Given the description of an element on the screen output the (x, y) to click on. 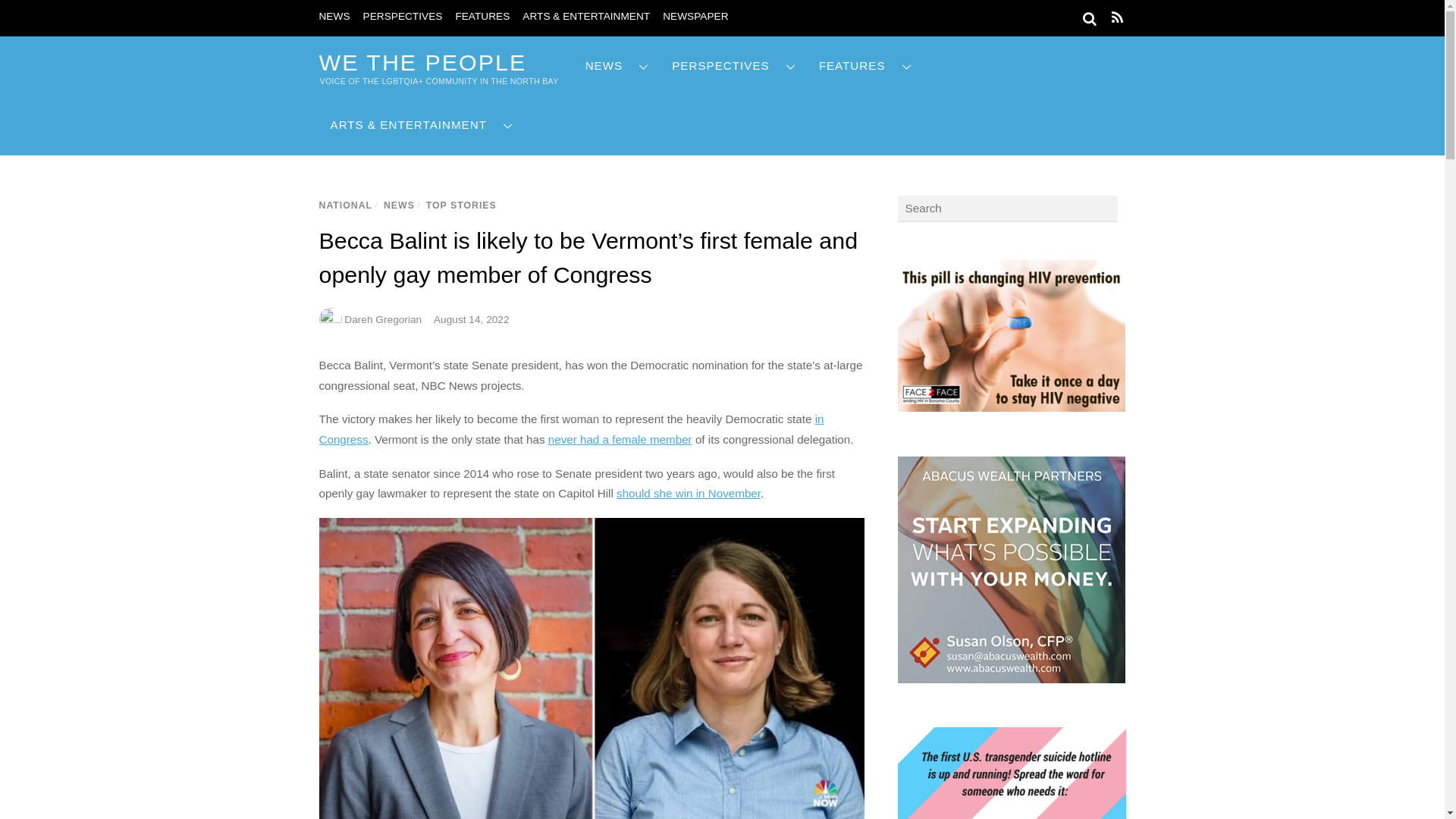
We The People (421, 62)
NEWS (617, 66)
NEWS (333, 16)
WE THE PEOPLE (421, 62)
FEATURES (481, 16)
PERSPECTIVES (402, 16)
NEWSPAPER (695, 16)
